Given the description of an element on the screen output the (x, y) to click on. 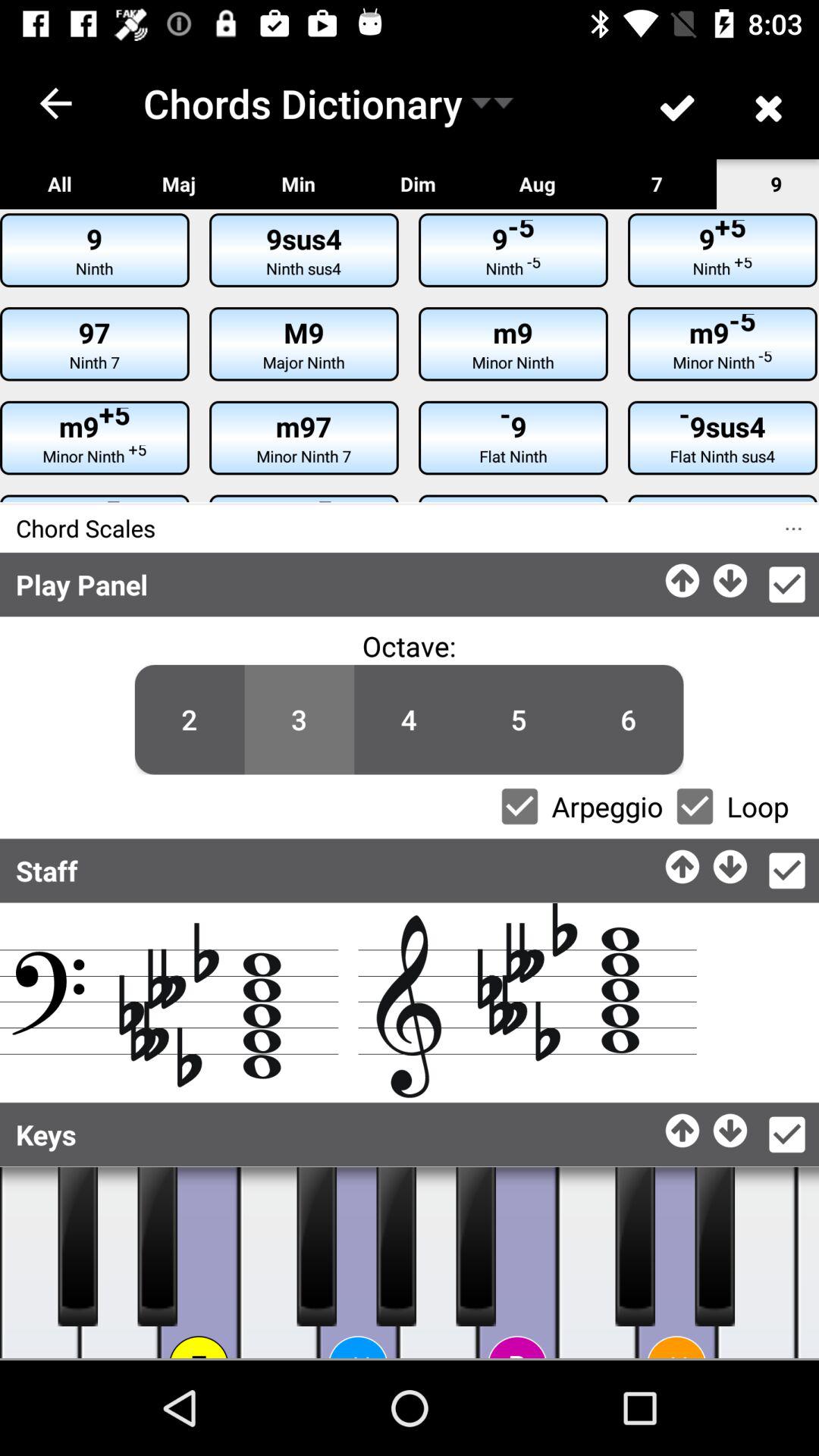
music play switch (807, 1262)
